Given the description of an element on the screen output the (x, y) to click on. 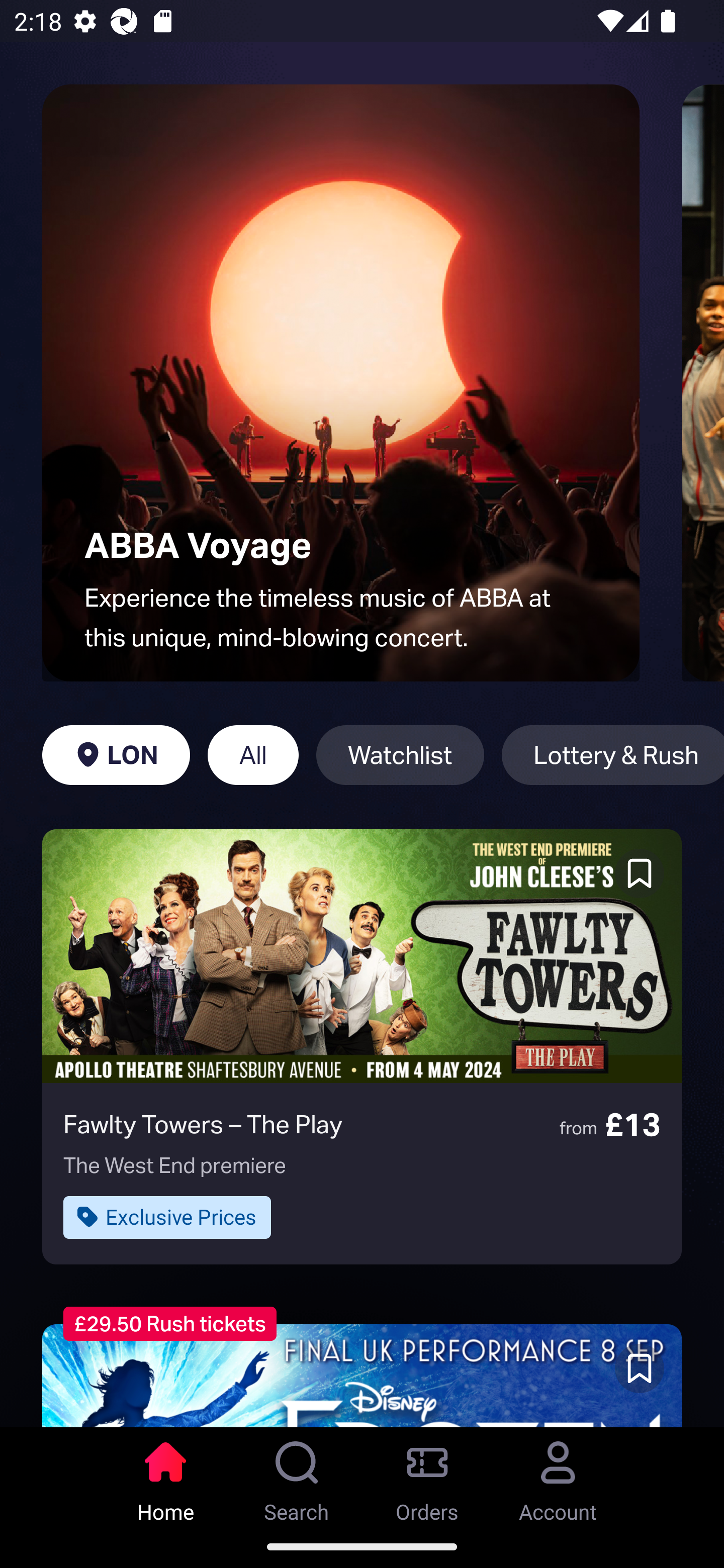
LON (115, 754)
All (252, 754)
Watchlist (400, 754)
Lottery & Rush (612, 754)
Search (296, 1475)
Orders (427, 1475)
Account (558, 1475)
